Given the description of an element on the screen output the (x, y) to click on. 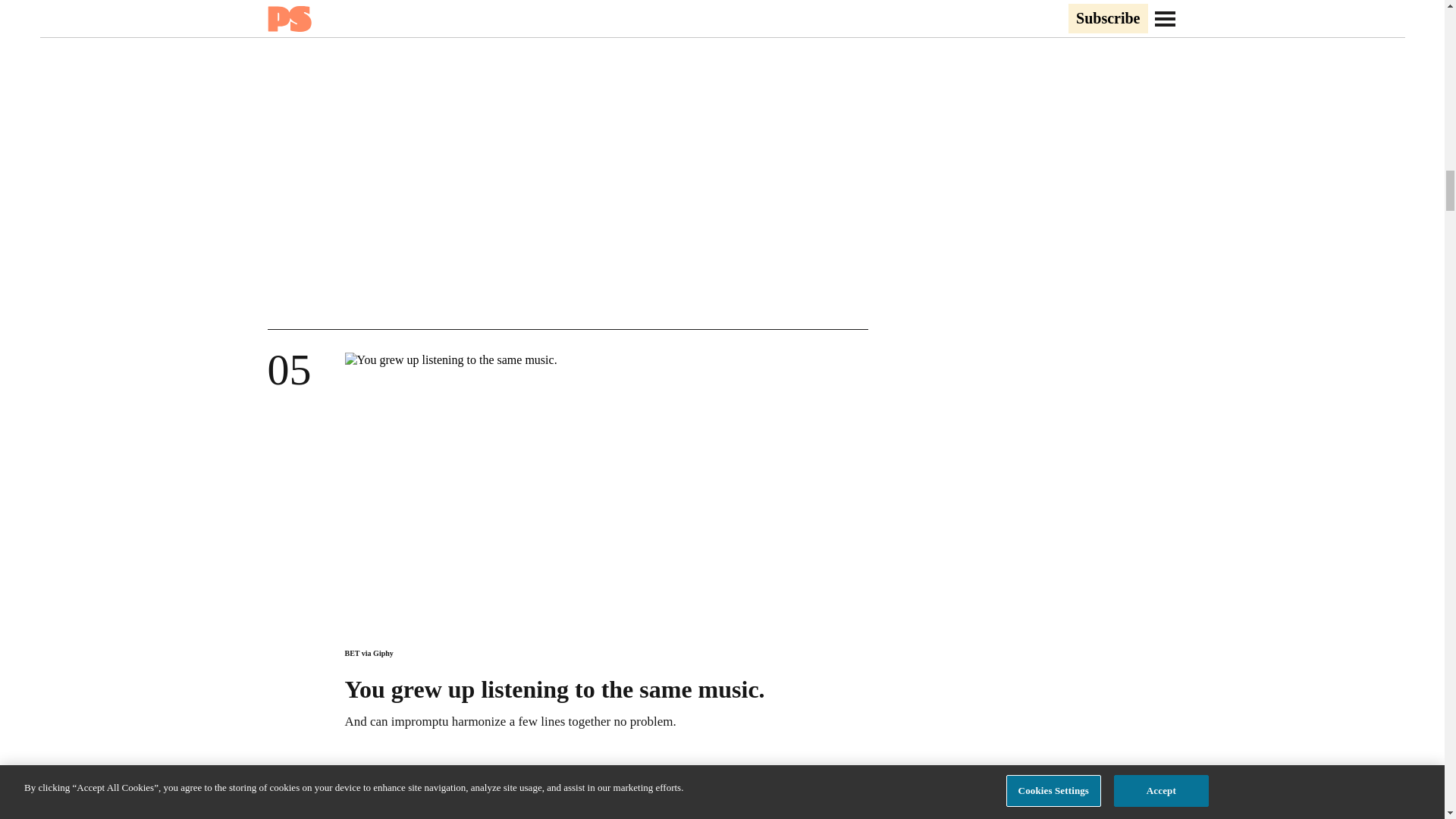
BET via Giphy (368, 653)
